Given the description of an element on the screen output the (x, y) to click on. 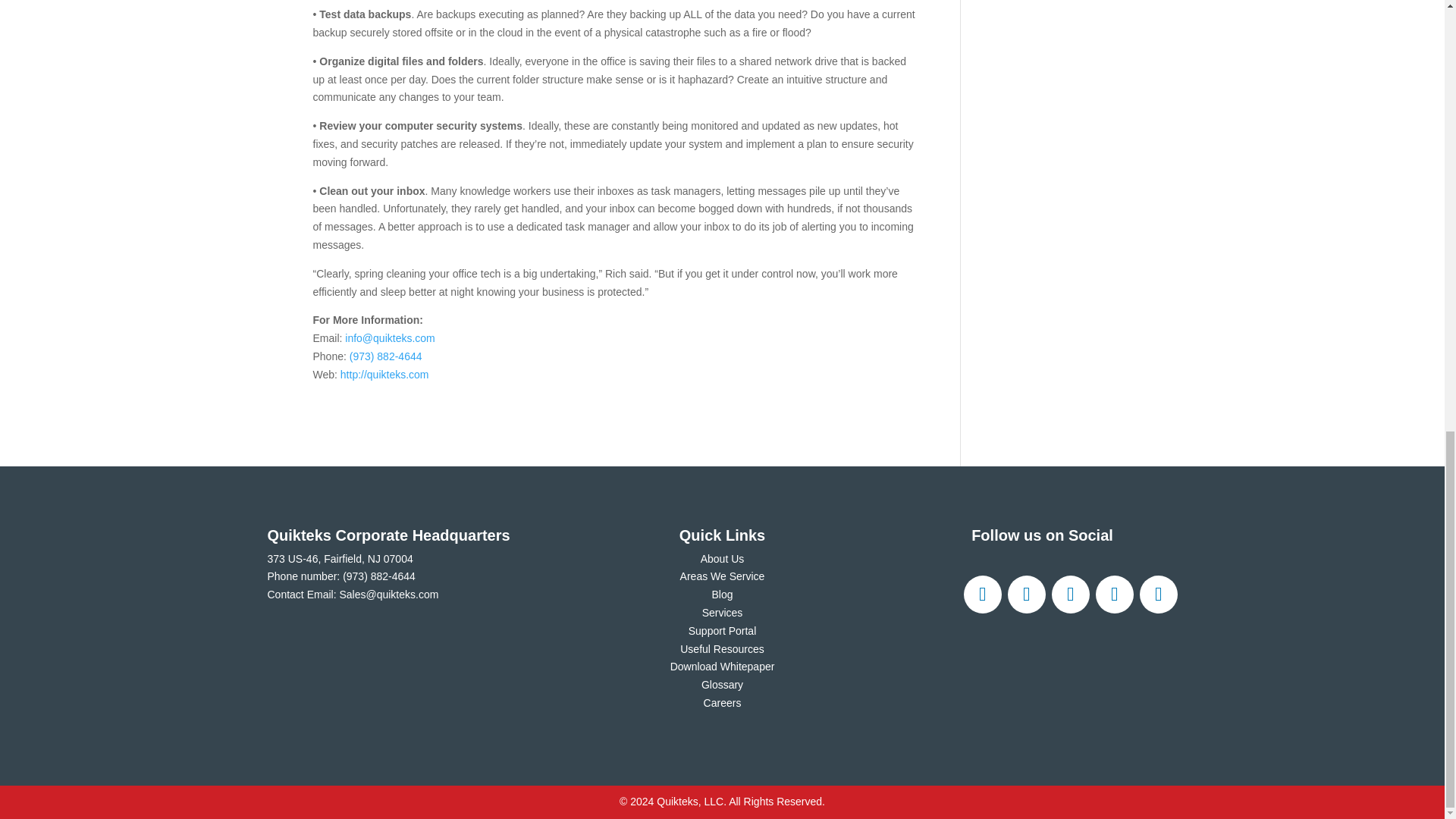
Follow on Youtube (1157, 594)
About Us (722, 558)
Follow on X (1026, 594)
Follow on Instagram (1070, 594)
Services (721, 612)
Follow on LinkedIn (1113, 594)
Blog (721, 594)
Follow on Facebook (981, 594)
373 US-46, Fairfield, NJ 07004 (339, 558)
Areas We Service (722, 576)
